Given the description of an element on the screen output the (x, y) to click on. 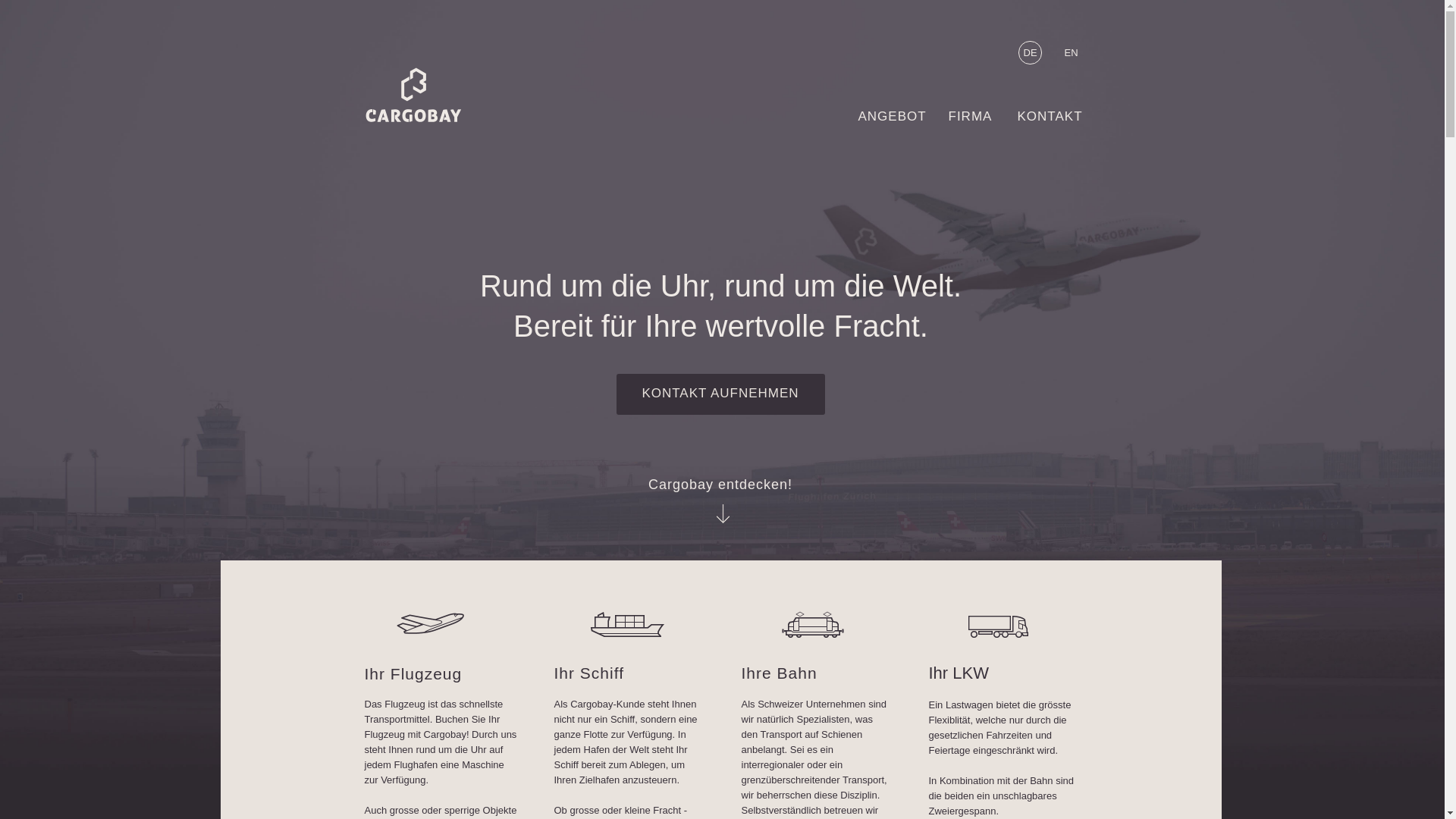
EN Element type: text (1076, 57)
Cargobay entdecken! Element type: text (720, 486)
KONTAKT AUFNEHMEN Element type: text (719, 393)
KONTAKT Element type: text (1057, 119)
FIRMA Element type: text (980, 119)
ANGEBOT Element type: text (903, 119)
